Given the description of an element on the screen output the (x, y) to click on. 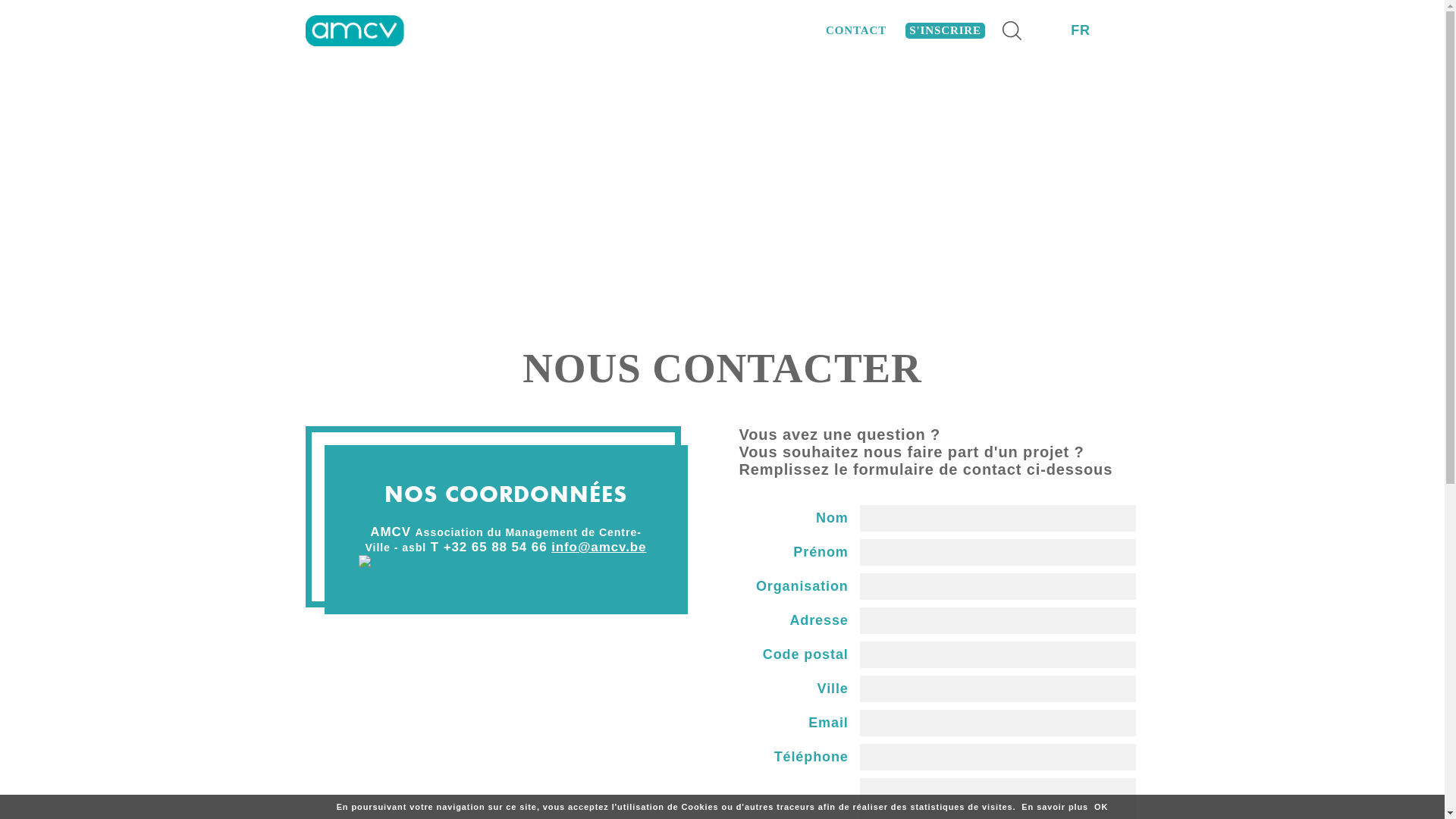
L'AMCV Element type: text (560, 30)
S'INSCRIRE Element type: text (945, 30)
RECHERCHER Element type: hover (1011, 30)
ACCUEIL Element type: text (468, 30)
OK Element type: text (1100, 806)
info@amcv.be Element type: text (598, 546)
En savoir plus Element type: text (1054, 806)
AMCV Element type: hover (353, 30)
PROJETS Element type: text (759, 30)
CONTACT Element type: text (855, 30)
FR Element type: text (1080, 29)
EN Element type: text (1114, 29)
EXPERTISE Element type: text (658, 30)
